Given the description of an element on the screen output the (x, y) to click on. 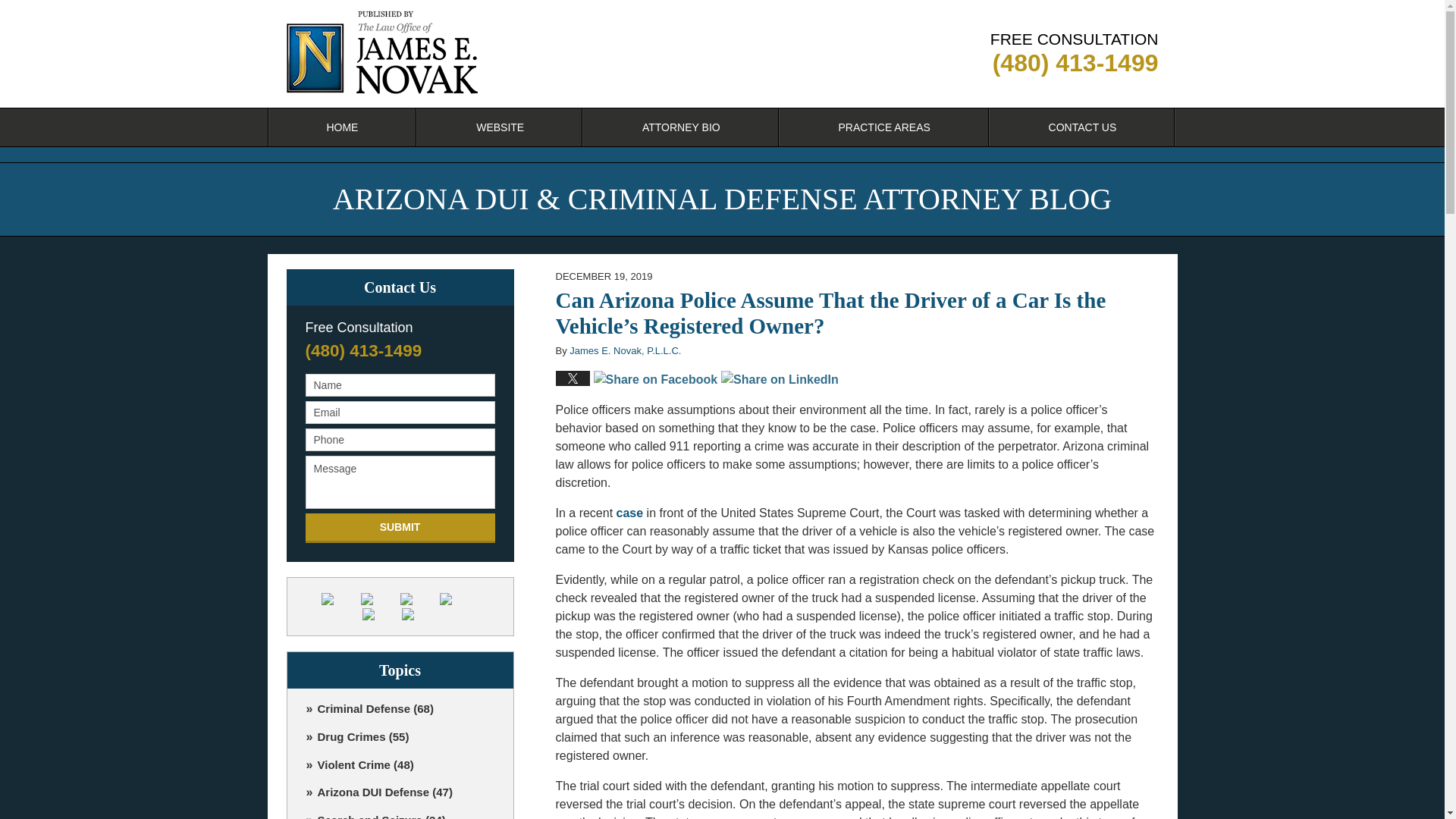
Please enter a valid phone number. (399, 439)
Feed (419, 613)
HOME (341, 127)
YouTube (380, 613)
James E. Novak, P.L.L.C. (625, 350)
Justia (457, 598)
PRACTICE AREAS (884, 127)
LinkedIn (418, 598)
CONTACT US (1083, 127)
case (629, 512)
